Given the description of an element on the screen output the (x, y) to click on. 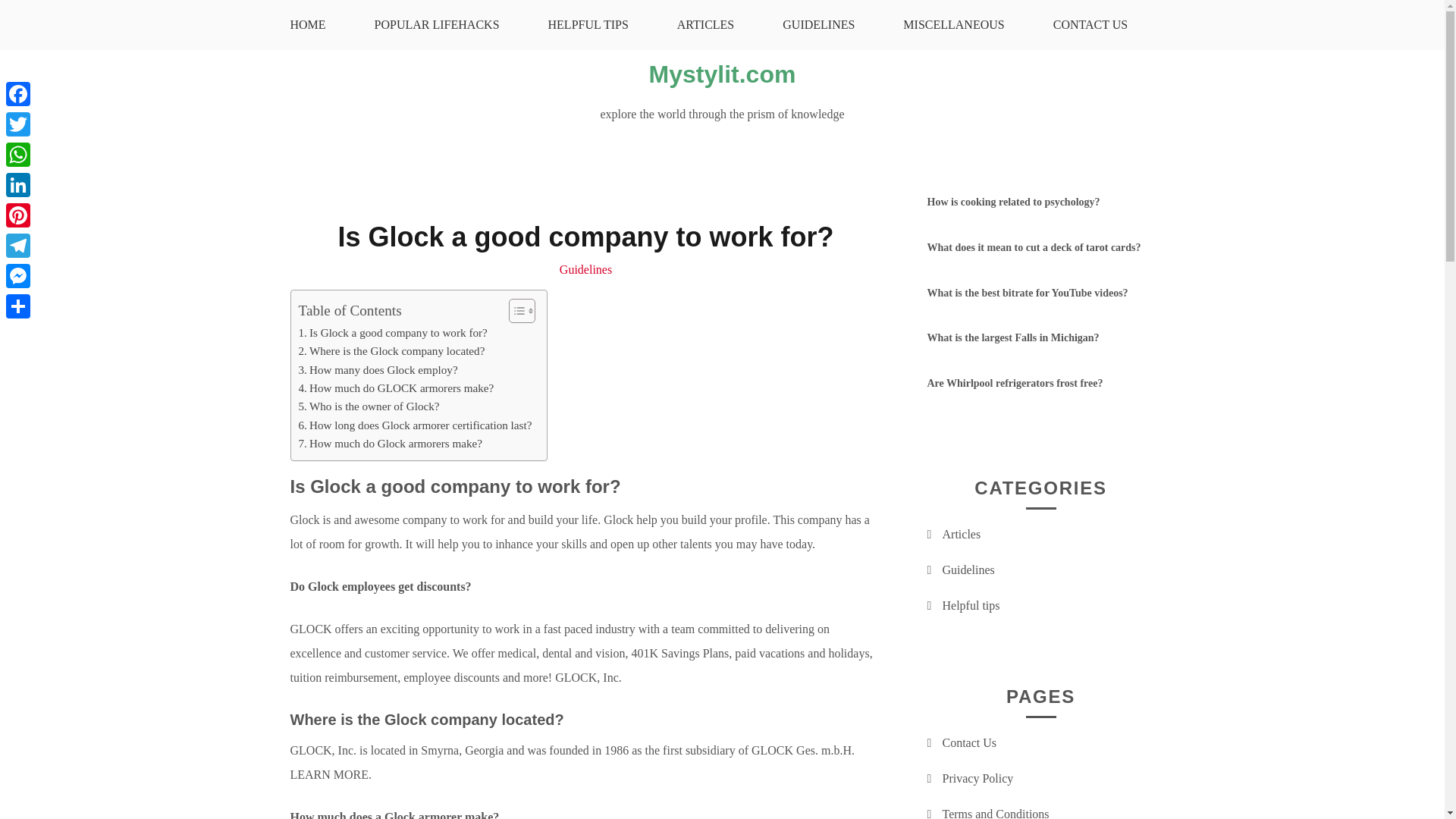
MISCELLANEOUS (953, 24)
How long does Glock armorer certification last? (415, 425)
POPULAR LIFEHACKS (437, 24)
What does it mean to cut a deck of tarot cards? (1033, 247)
How much do Glock armorers make? (390, 443)
Telegram (17, 245)
Where is the Glock company located? (391, 351)
Where is the Glock company located? (391, 351)
GUIDELINES (818, 24)
Pinterest (17, 214)
